Given the description of an element on the screen output the (x, y) to click on. 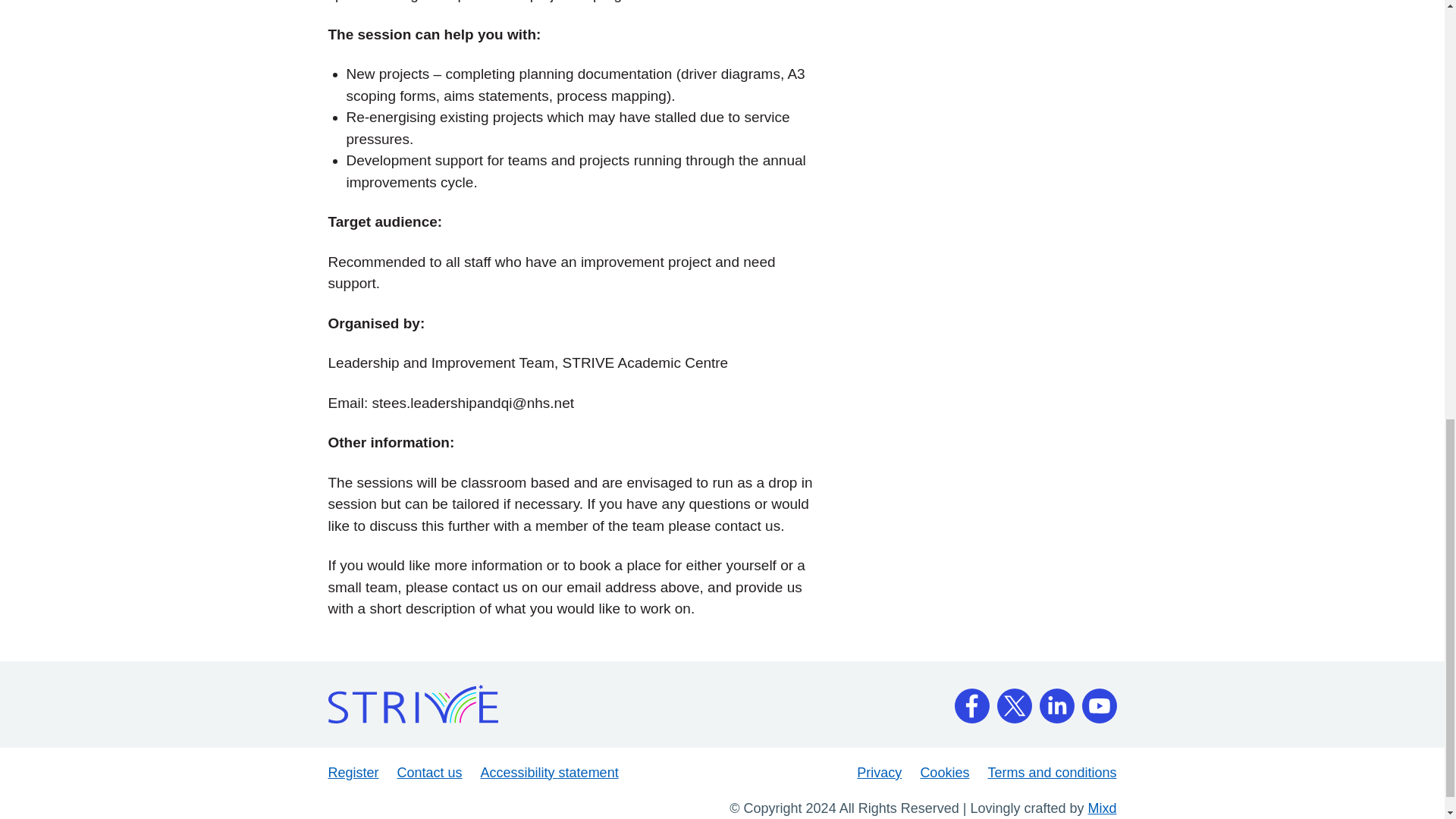
Terms and conditions (1051, 772)
Group 7 (1012, 700)
Contact us (430, 772)
Cookies (944, 772)
Accessibility statement (549, 772)
Group 5 (970, 700)
Privacy (879, 772)
Group 9 (1098, 700)
Group 8 (1056, 700)
Register (352, 772)
